Given the description of an element on the screen output the (x, y) to click on. 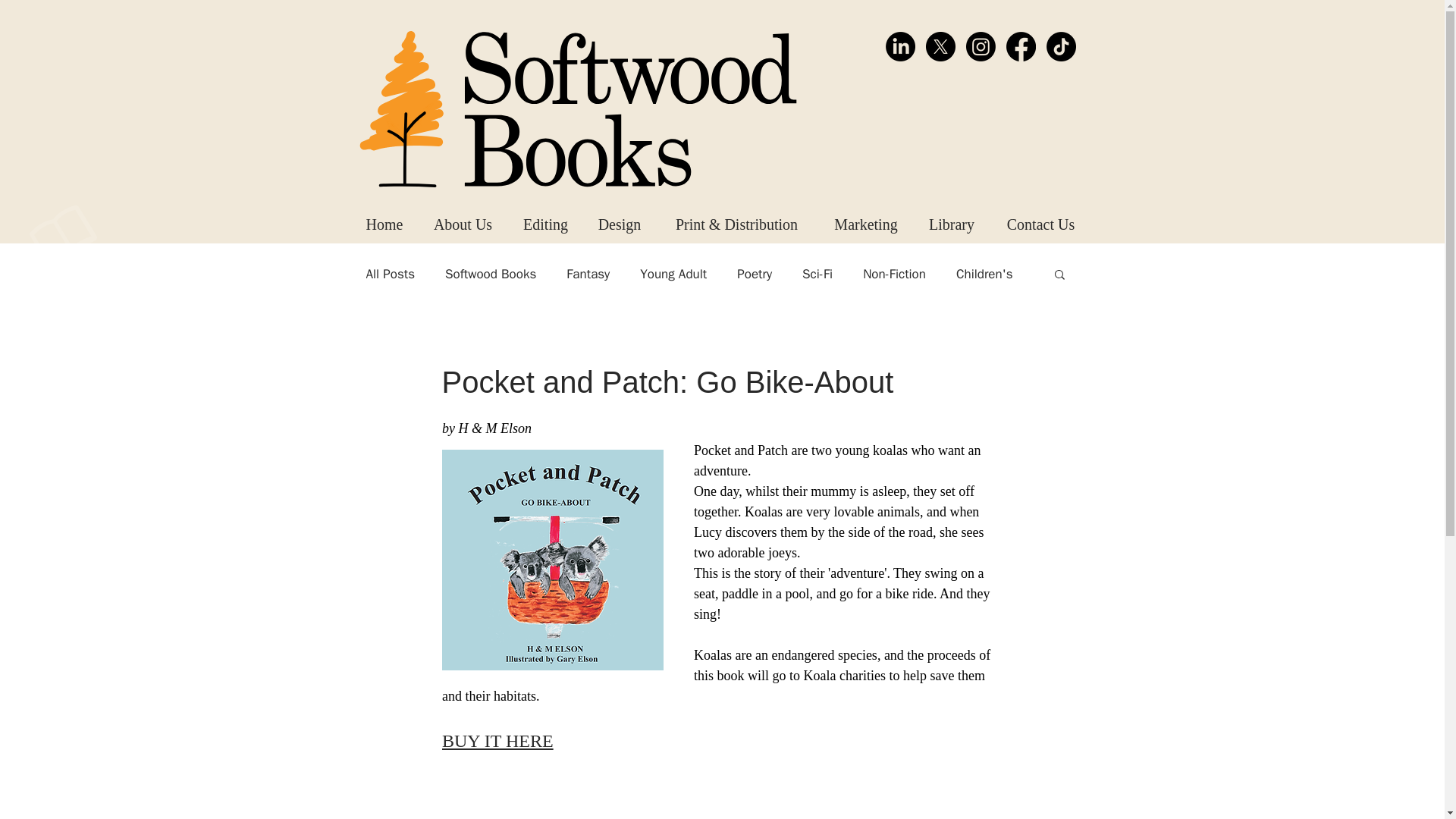
Poetry (753, 273)
Non-Fiction (894, 273)
Marketing (865, 224)
Contact Us (1040, 224)
Children's (984, 273)
Fantasy (588, 273)
All Posts (389, 273)
Library (951, 224)
Sci-Fi (817, 273)
About Us (461, 224)
